Given the description of an element on the screen output the (x, y) to click on. 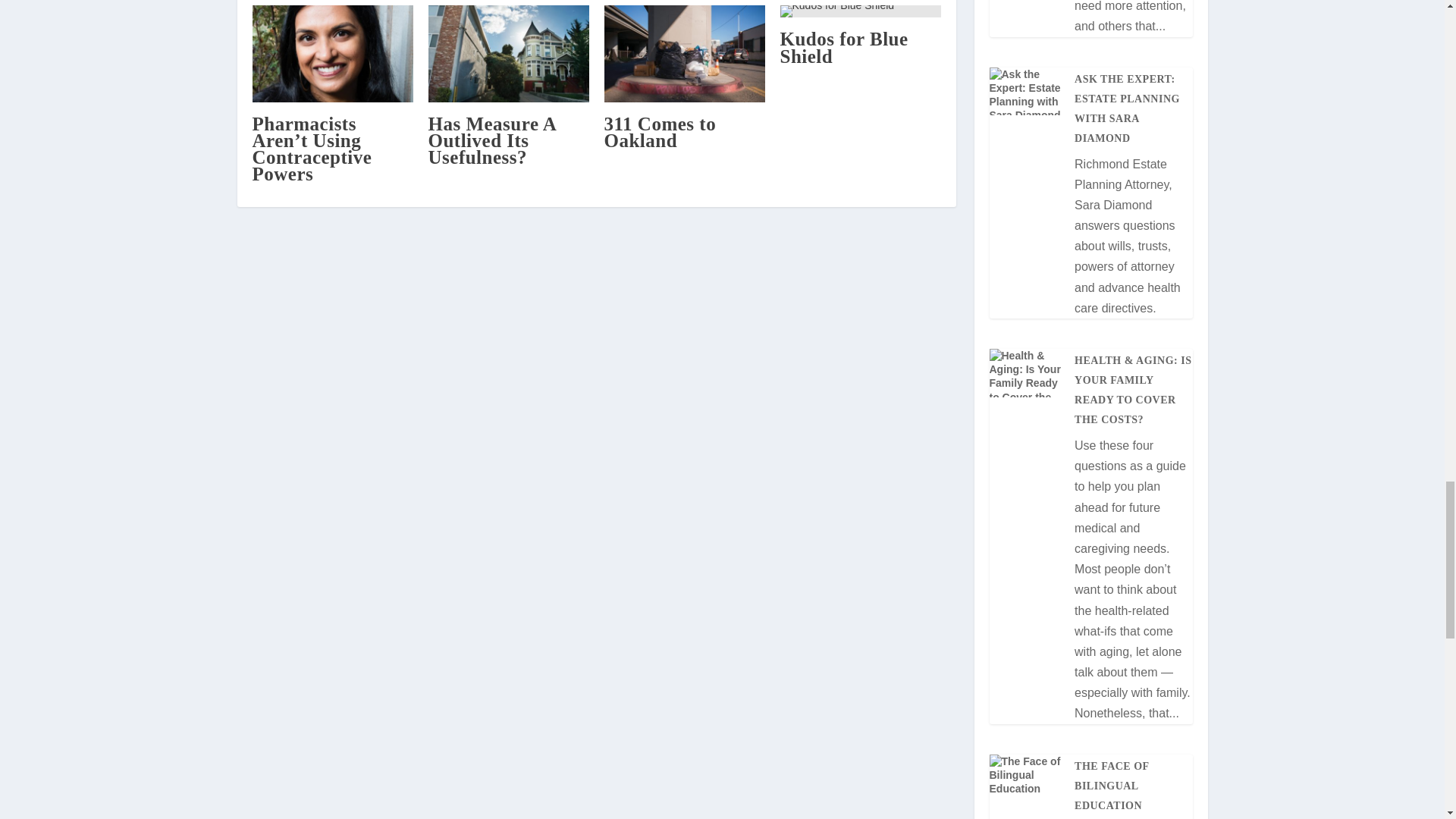
311 Comes to Oakland (660, 131)
Kudos for Blue Shield (842, 47)
Has Measure A Outlived Its Usefulness? (492, 140)
